Given the description of an element on the screen output the (x, y) to click on. 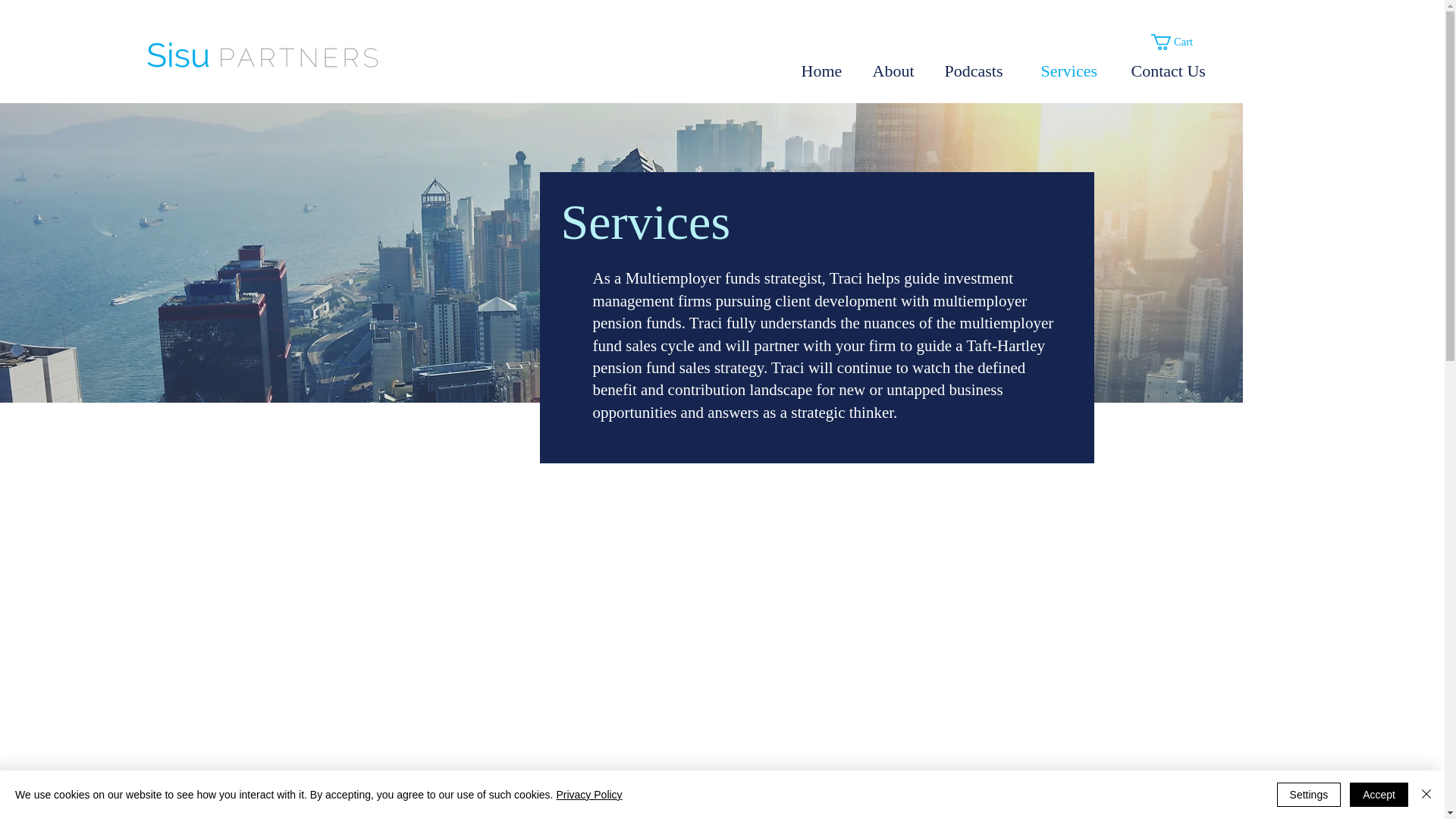
Podcasts (981, 71)
Cart (1181, 41)
Privacy Policy (588, 794)
About (897, 71)
Services (1074, 71)
Cart (1181, 41)
Contact Us (1174, 71)
Settings (1308, 794)
Home (825, 71)
Accept (1378, 794)
